Given the description of an element on the screen output the (x, y) to click on. 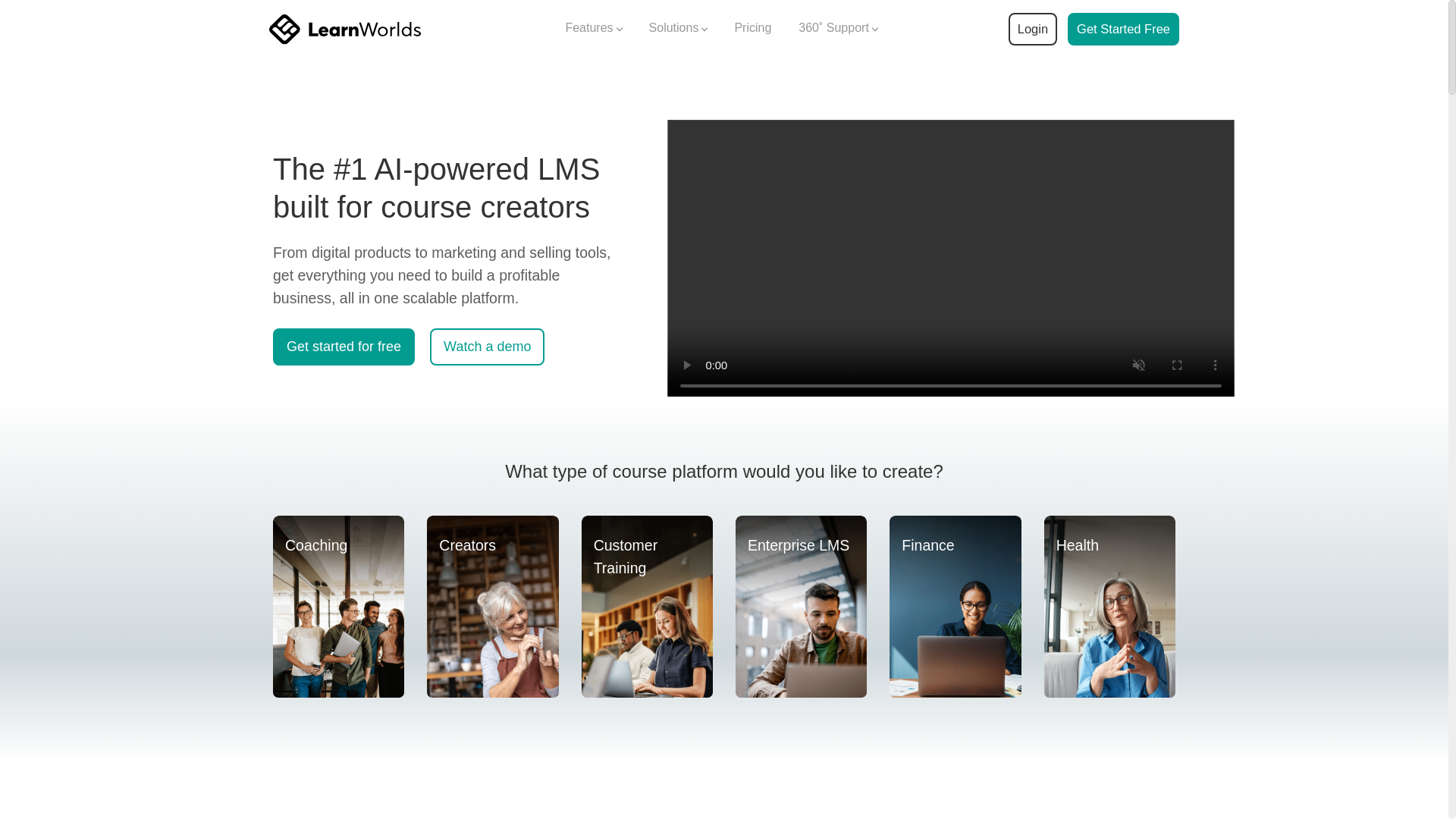
Login to your LearnWorlds account (1032, 29)
Start your demo with LearnWorlds (1123, 29)
Features (592, 29)
LearnWorlds home (344, 28)
